Given the description of an element on the screen output the (x, y) to click on. 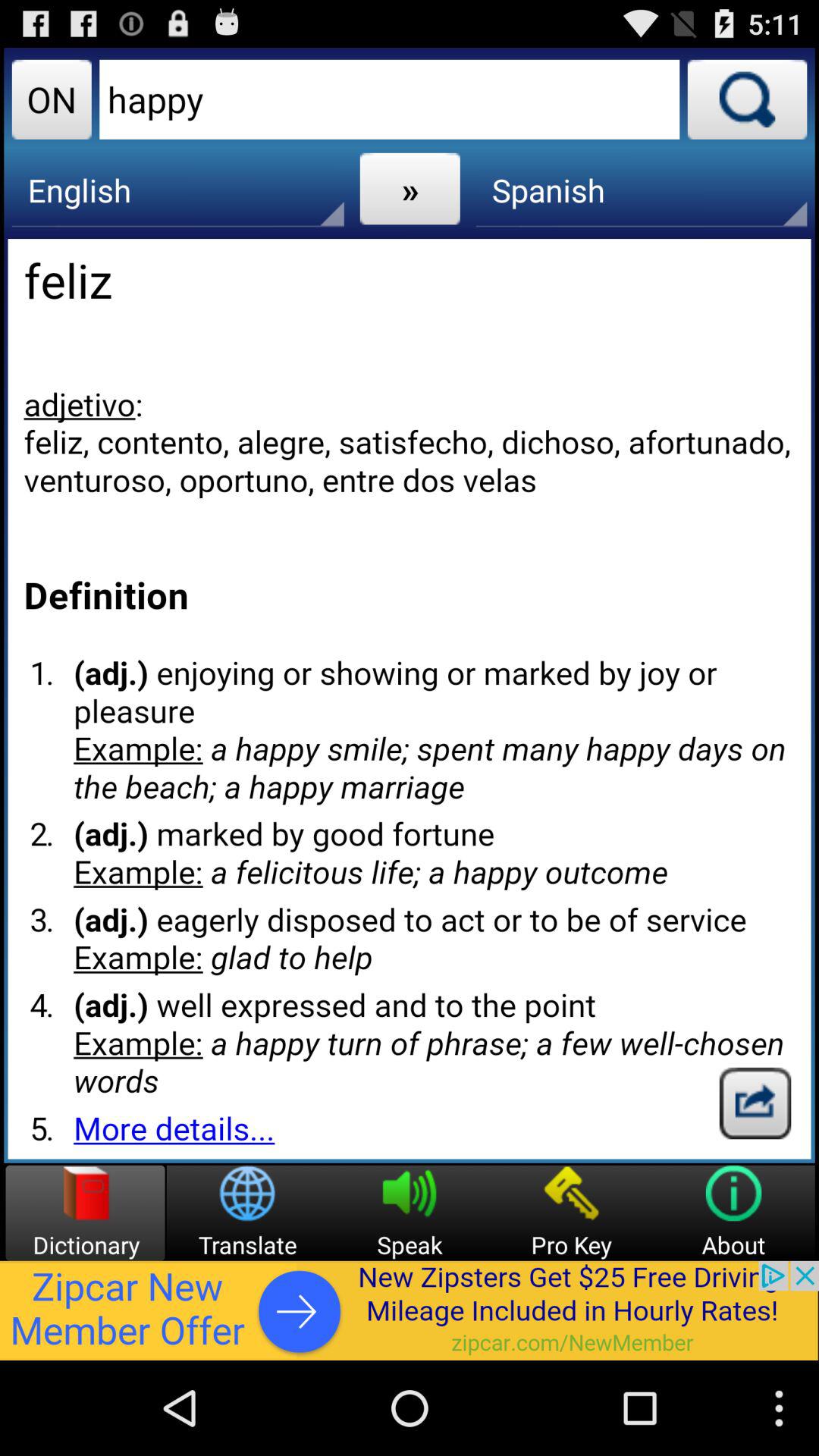
open advertisement (409, 1310)
